Given the description of an element on the screen output the (x, y) to click on. 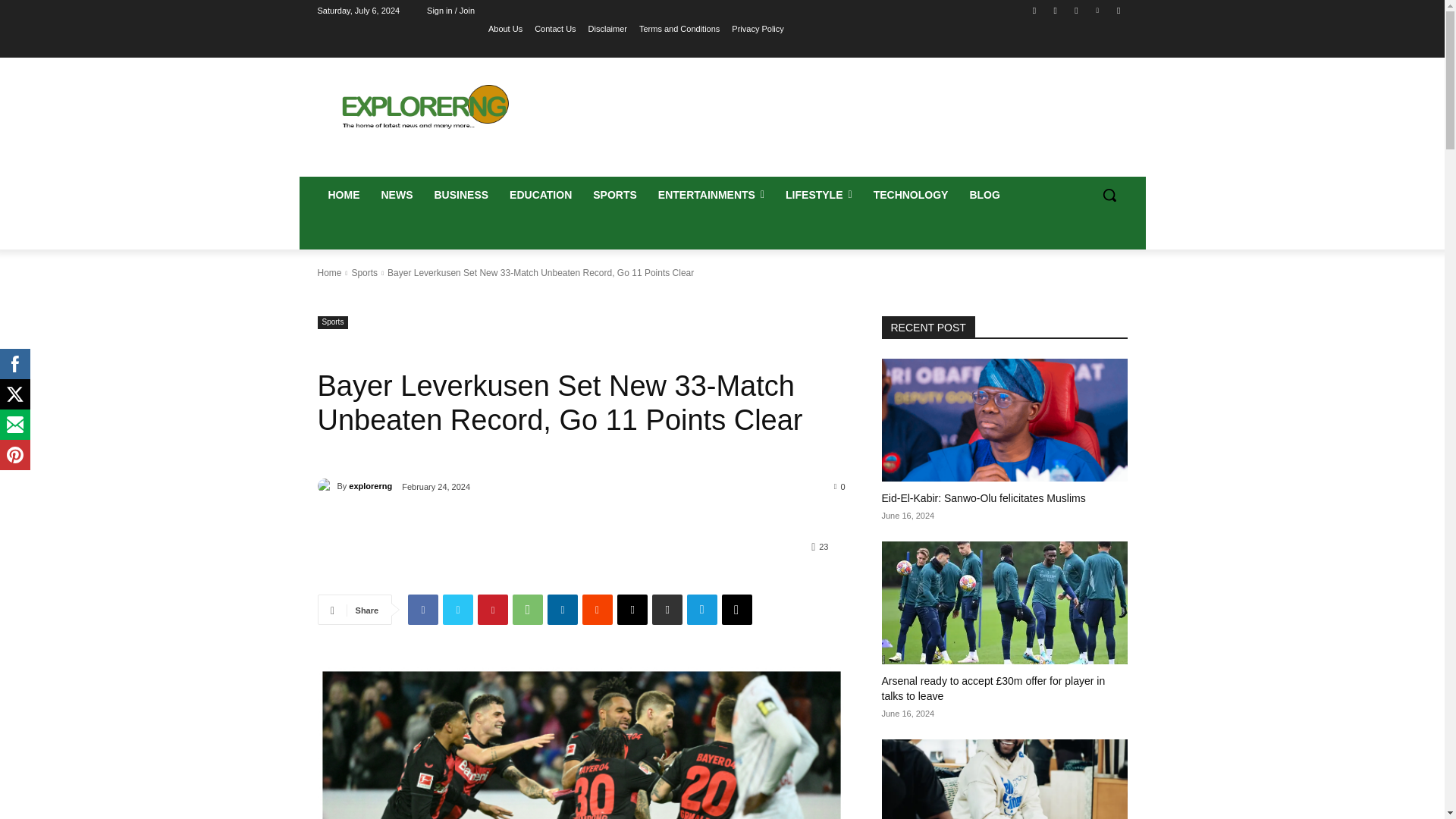
ENTERTAINMENTS (710, 194)
Twitter (1075, 9)
Facebook (1034, 9)
About Us (504, 28)
LIFESTYLE (818, 194)
WhatsApp (527, 609)
BUSINESS (461, 194)
Privacy Policy (757, 28)
NEWS (396, 194)
explorerng (326, 485)
Pinterest (492, 609)
Facebook (422, 609)
Youtube (1117, 9)
SPORTS (614, 194)
Terms and Conditions (679, 28)
